Given the description of an element on the screen output the (x, y) to click on. 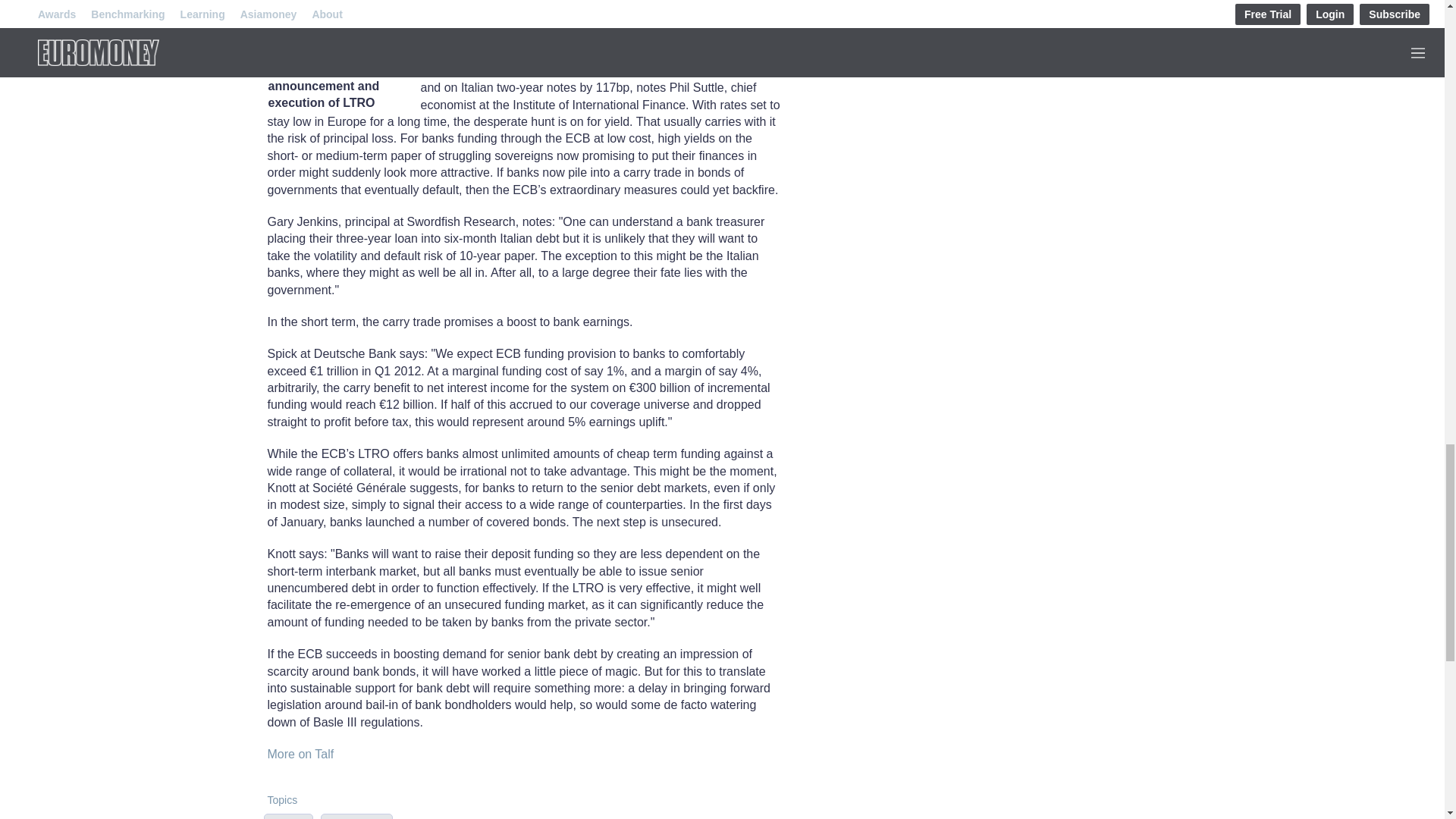
3rd party ad content (979, 52)
